Given the description of an element on the screen output the (x, y) to click on. 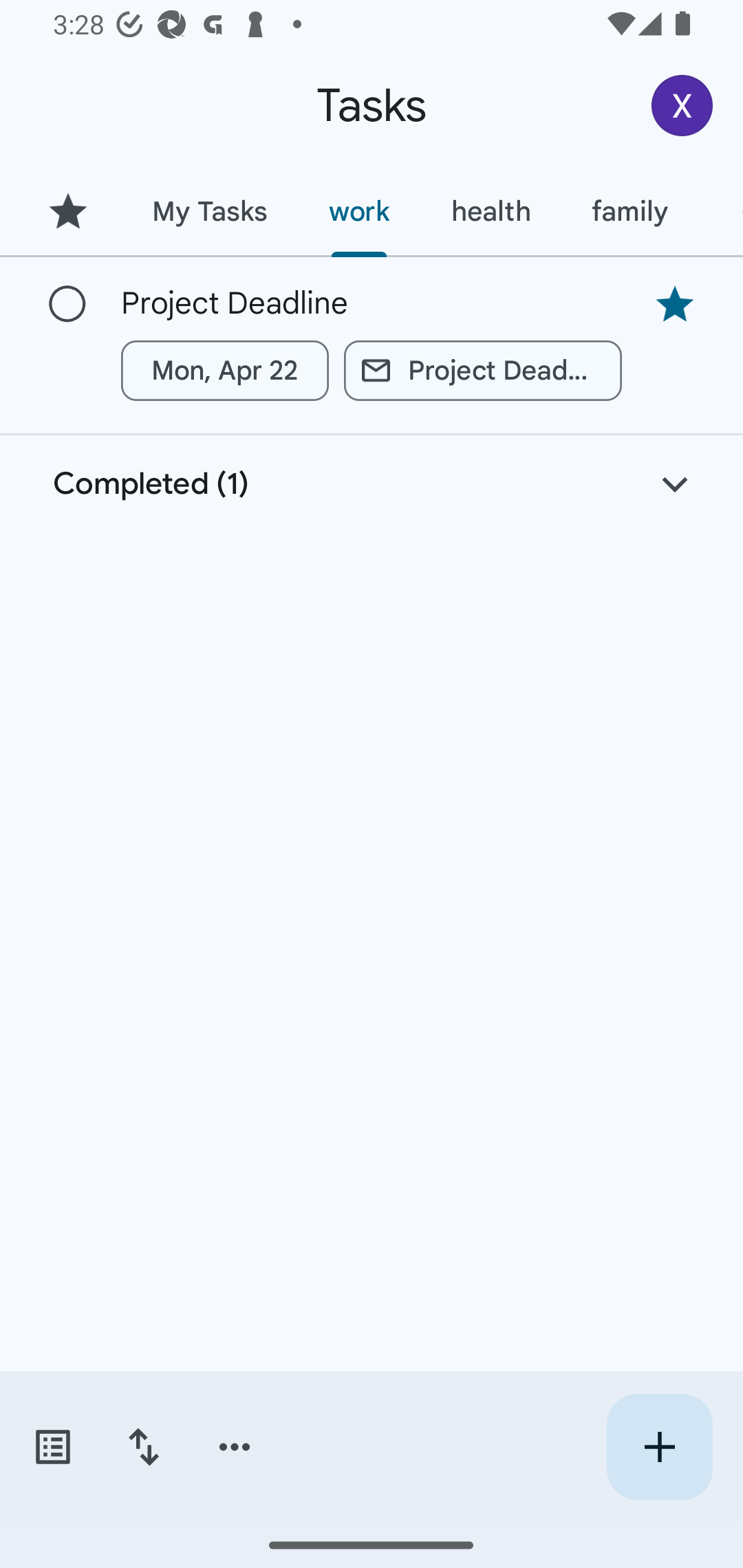
Starred (67, 211)
My Tasks (209, 211)
health (490, 211)
family (629, 211)
Remove star (674, 303)
Mark as complete (67, 304)
Mon, Apr 22 (225, 369)
Project Deadline Related link (482, 369)
Completed (1) (371, 484)
Switch task lists (52, 1447)
Create new task (659, 1446)
Change sort order (143, 1446)
More options (234, 1446)
